Given the description of an element on the screen output the (x, y) to click on. 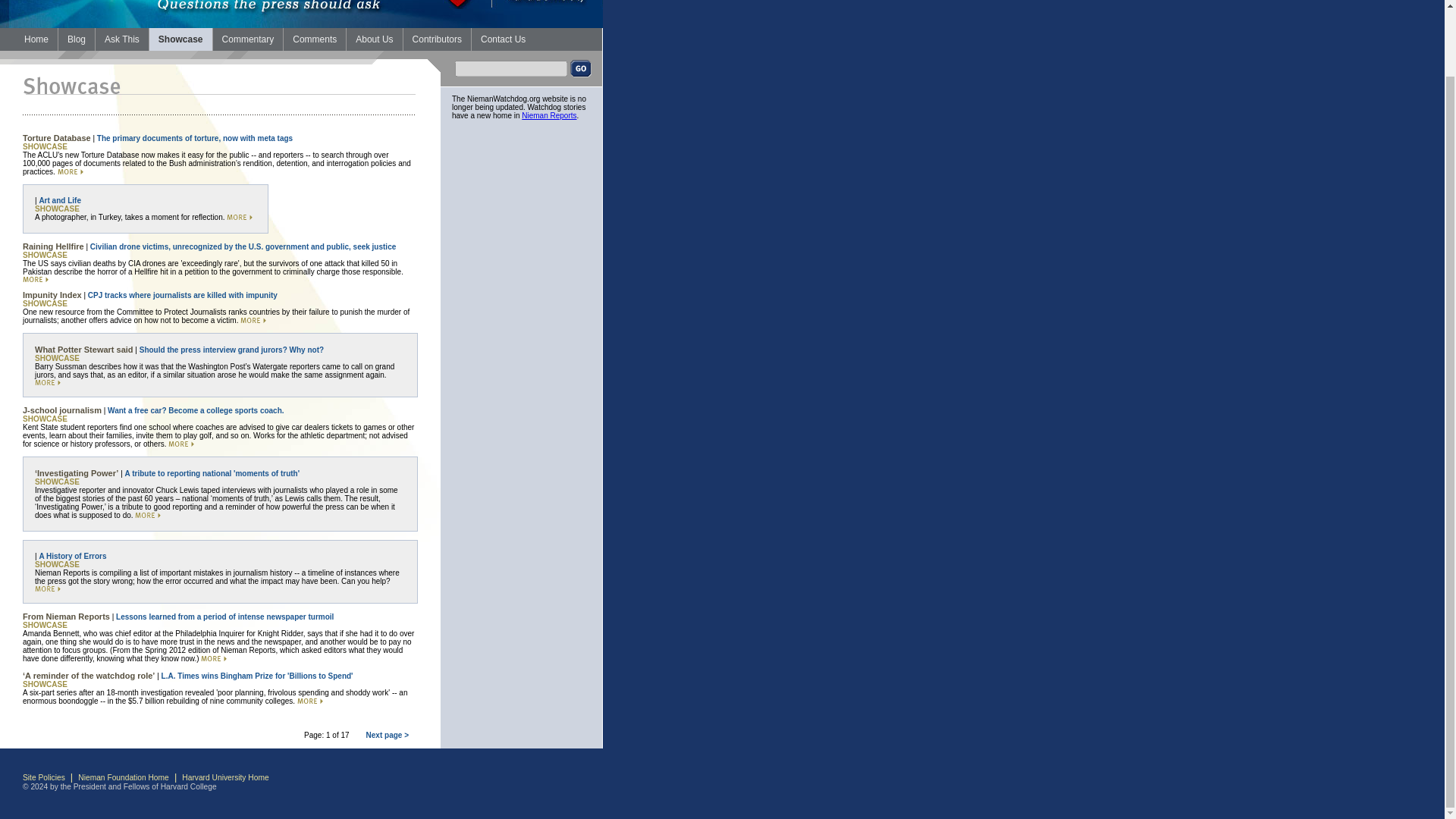
Commentary (247, 39)
L.A. Times wins Bingham Prize for 'Billions to Spend' (257, 675)
Ask This (122, 39)
Blog (76, 39)
A History of Errors (72, 556)
Should the press interview grand jurors? Why not? (231, 349)
CPJ tracks where journalists are killed with impunity (182, 295)
Nieman Foundation Home (123, 777)
Contributors (436, 39)
A tribute to reporting national 'moments of truth' (212, 473)
Showcase (180, 39)
Home (36, 39)
About Us (373, 39)
Art and Life (60, 200)
